Given the description of an element on the screen output the (x, y) to click on. 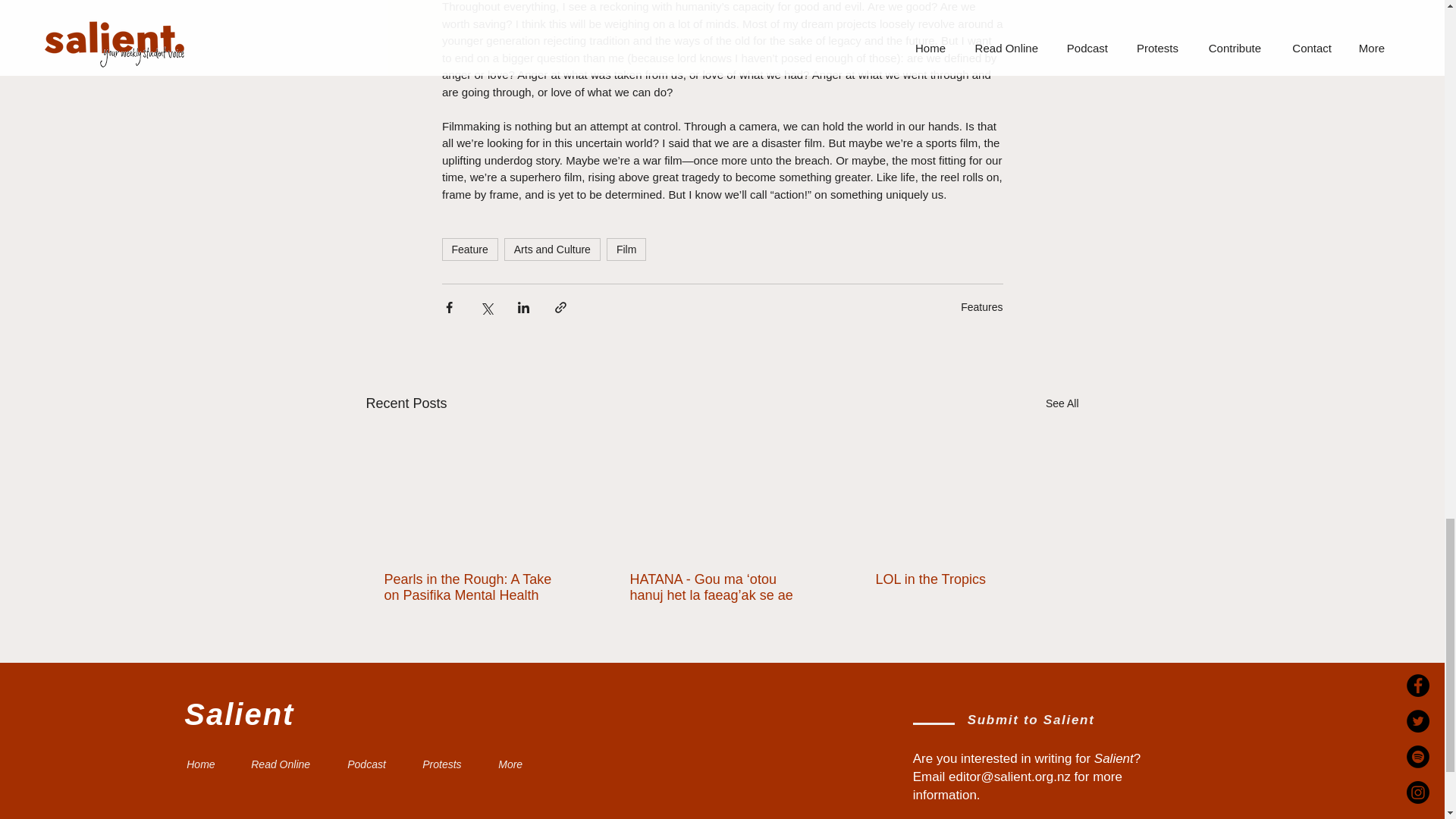
Feature (469, 249)
Film (626, 249)
Arts and Culture (551, 249)
LOL in the Tropics (966, 579)
Salient (239, 714)
See All (1061, 403)
Pearls in the Rough: A Take on Pasifika Mental Health (475, 587)
Features (981, 306)
